Given the description of an element on the screen output the (x, y) to click on. 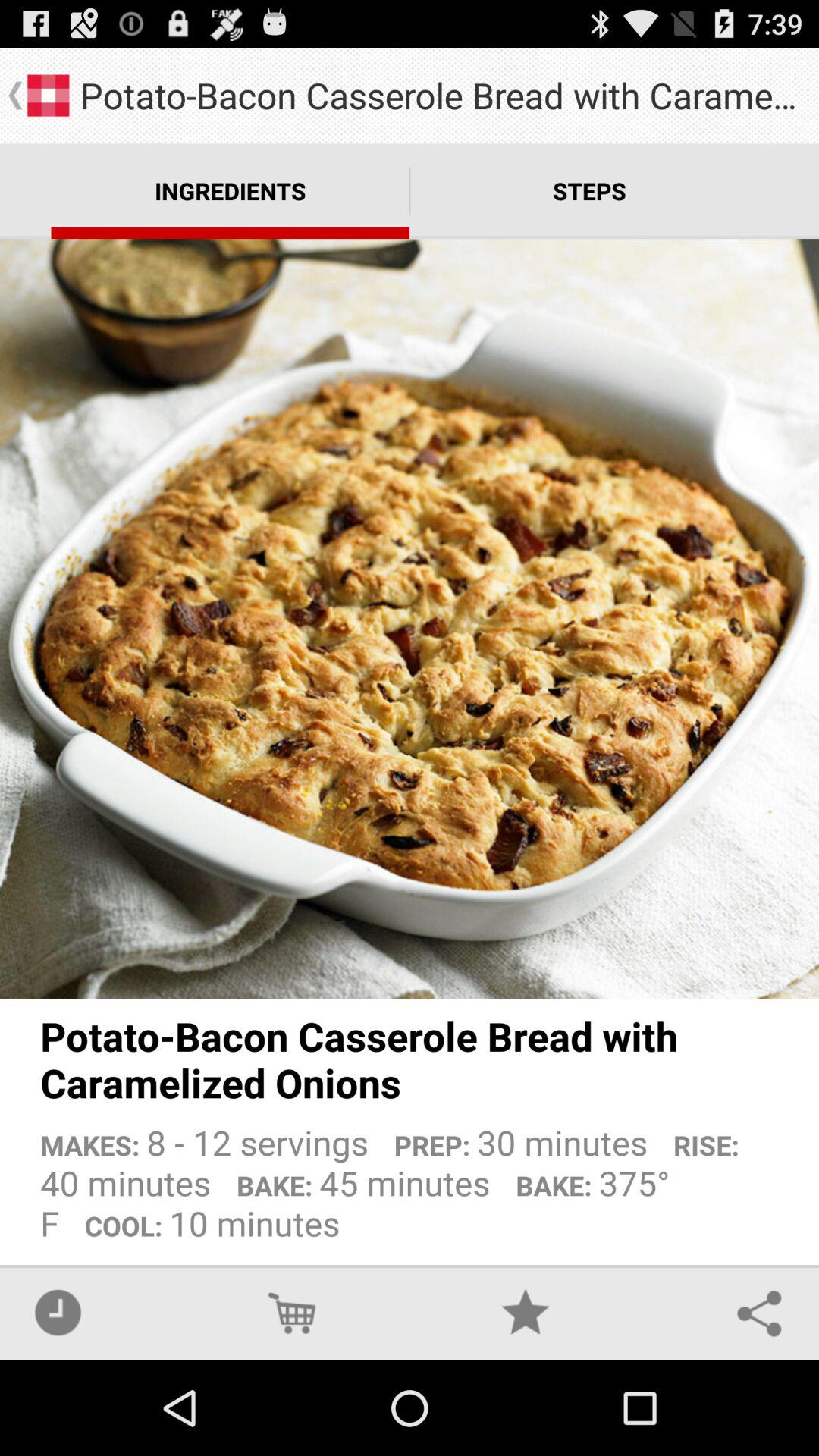
select the app below makes 8 12 icon (58, 1312)
